Given the description of an element on the screen output the (x, y) to click on. 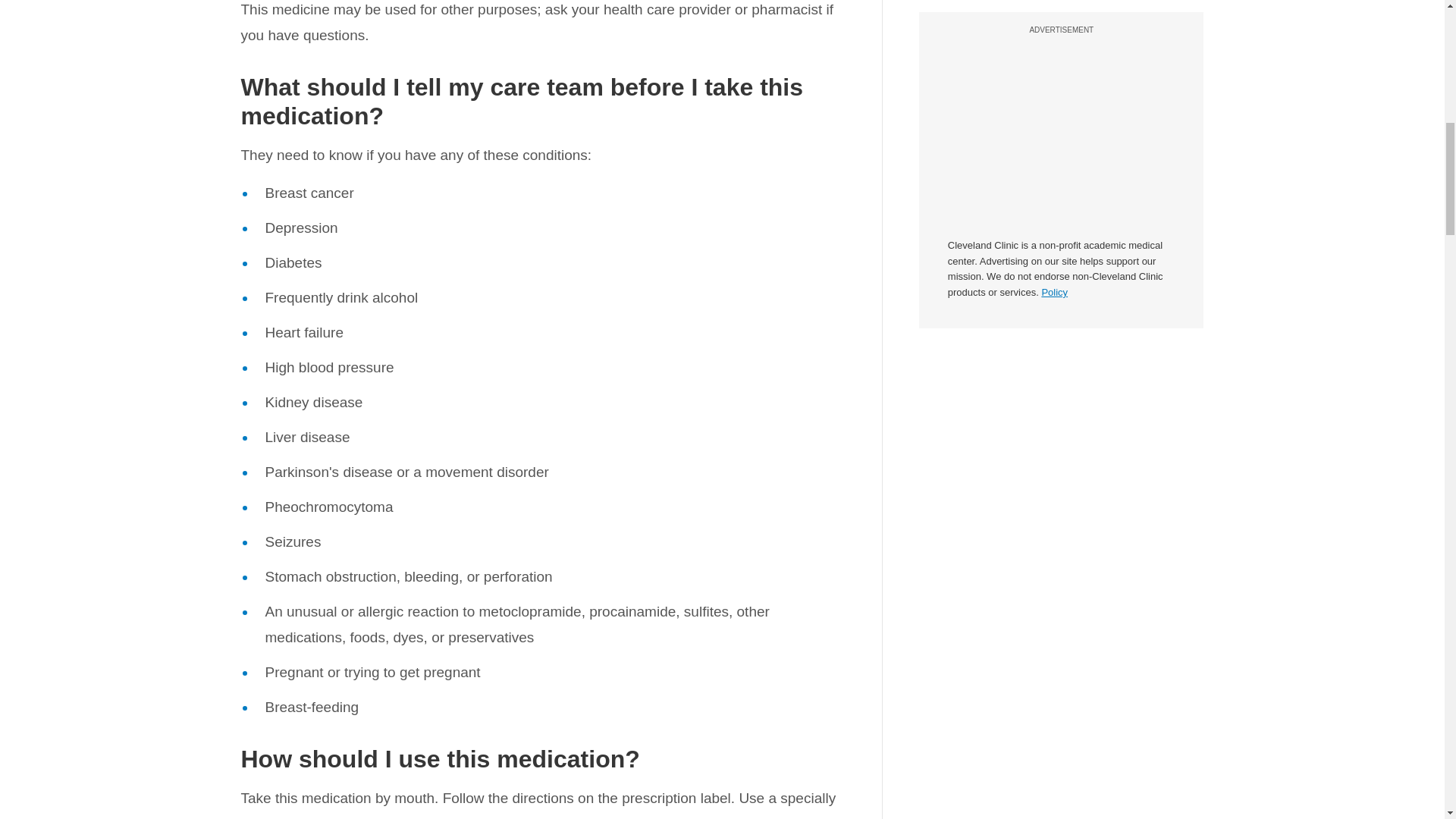
Policy (1054, 82)
